Given the description of an element on the screen output the (x, y) to click on. 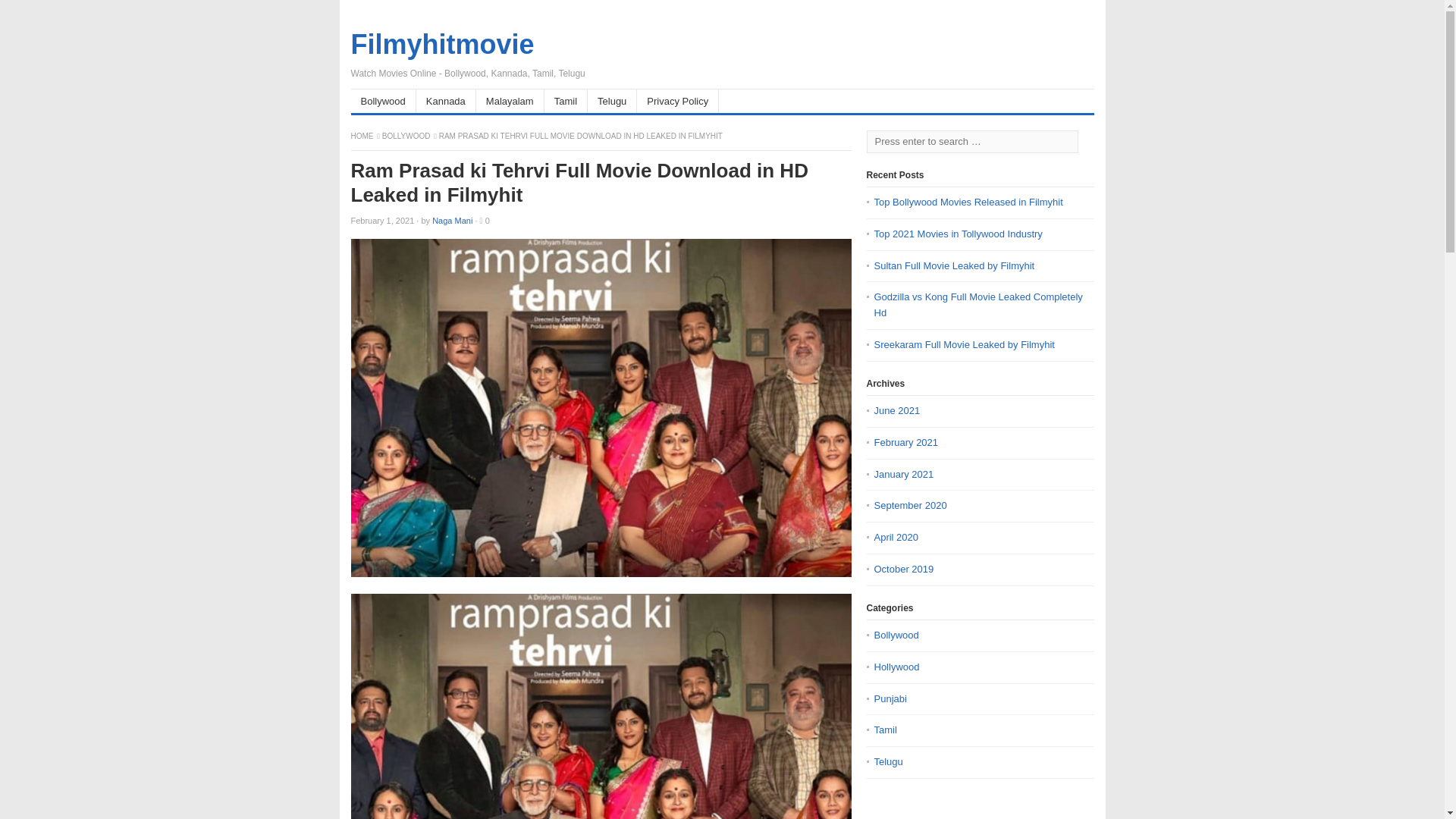
Top Bollywood Movies Released in Filmyhit (967, 202)
Malayalam (510, 101)
Sreekaram Full Movie Leaked by Filmyhit (963, 344)
Sultan Full Movie Leaked by Filmyhit (953, 265)
Search for: (971, 141)
Privacy Policy (678, 101)
June 2021 (896, 411)
BOLLYWOOD (406, 135)
Telugu (612, 101)
0 (486, 220)
Godzilla vs Kong Full Movie Leaked Completely Hd (977, 304)
Top 2021 Movies in Tollywood Industry (957, 233)
Post Comment (42, 11)
Bollywood (382, 101)
Naga Mani (451, 220)
